Given the description of an element on the screen output the (x, y) to click on. 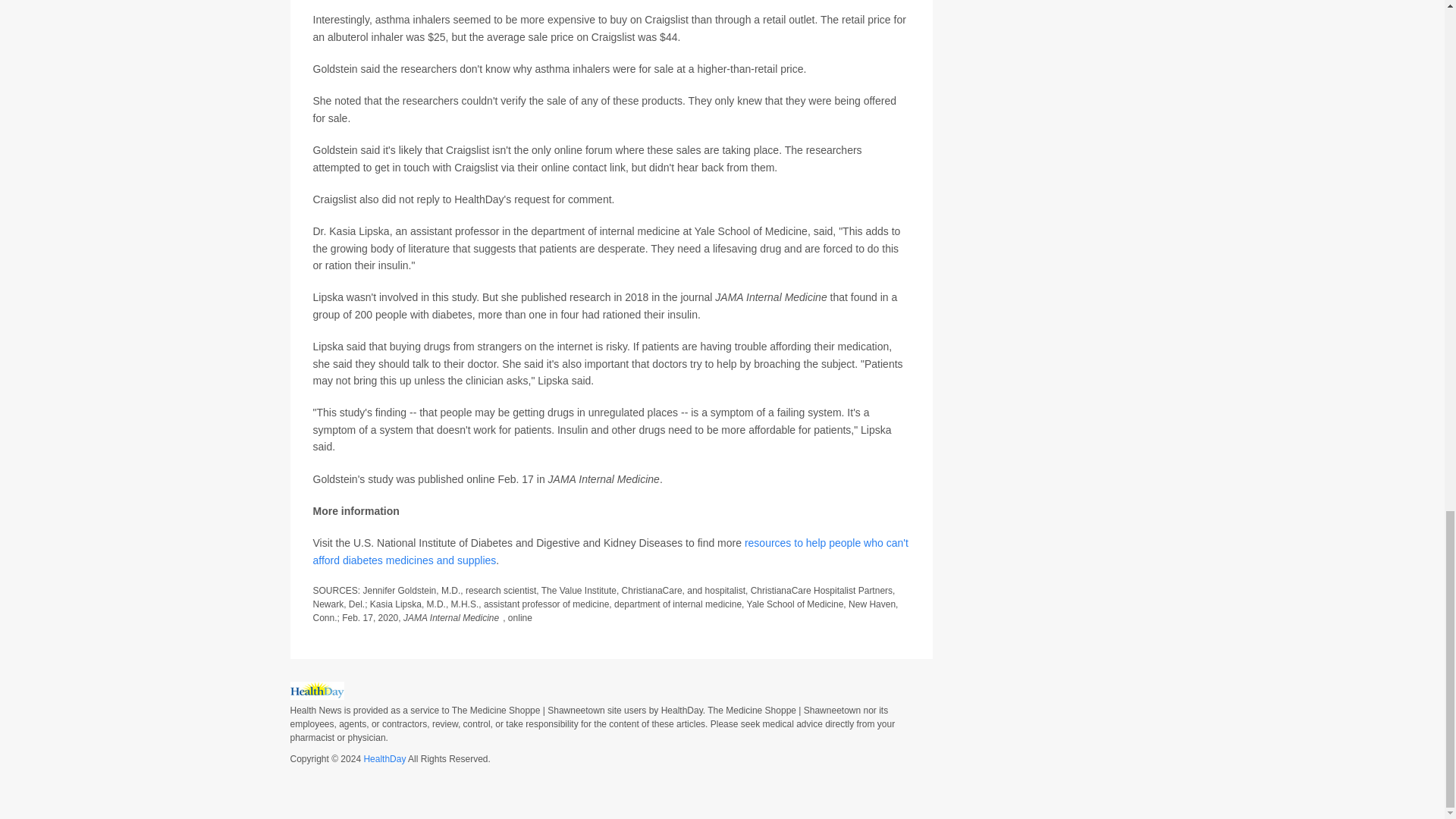
HealthDay (384, 758)
